Given the description of an element on the screen output the (x, y) to click on. 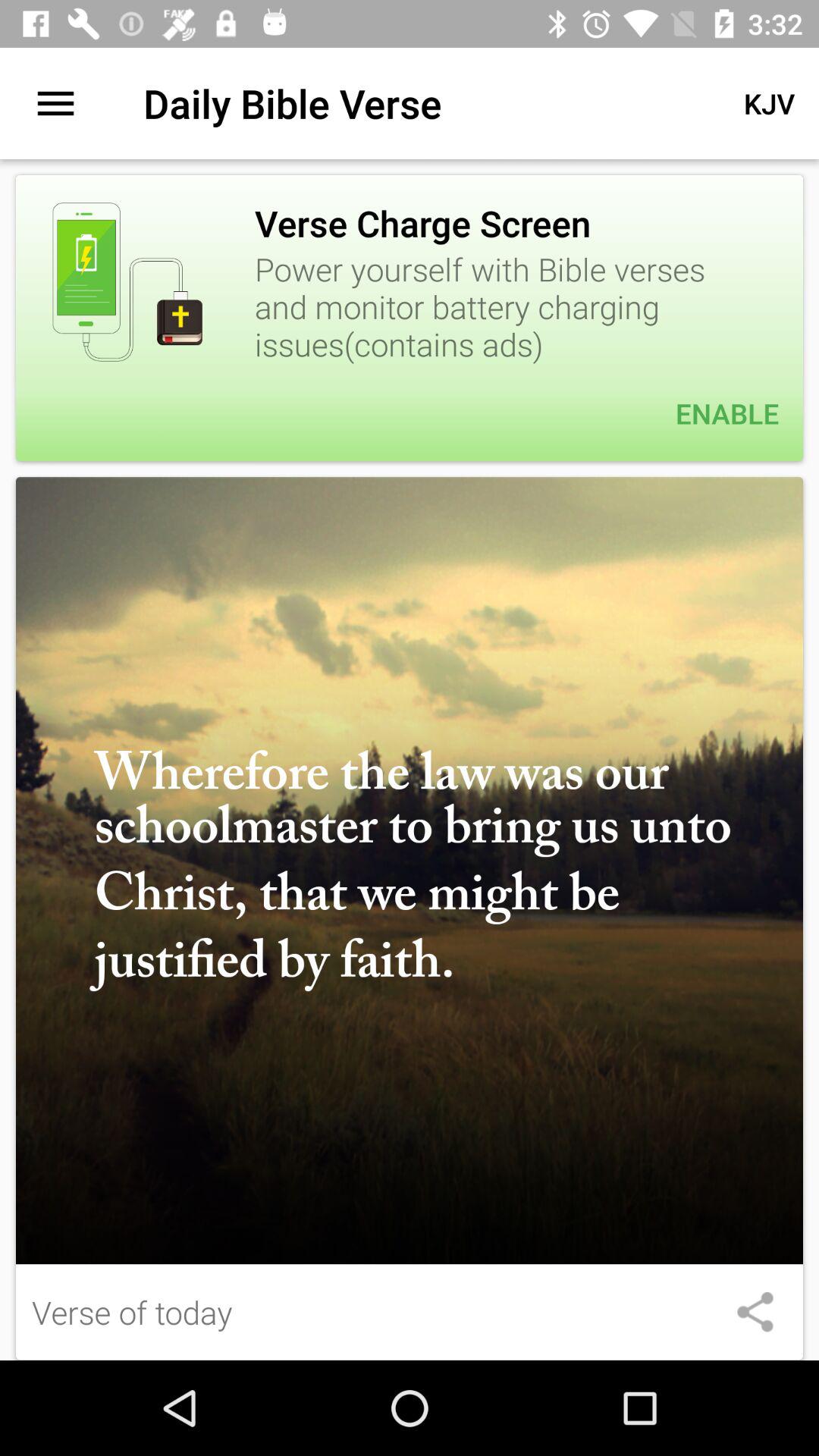
select icon above the power yourself with icon (769, 103)
